Given the description of an element on the screen output the (x, y) to click on. 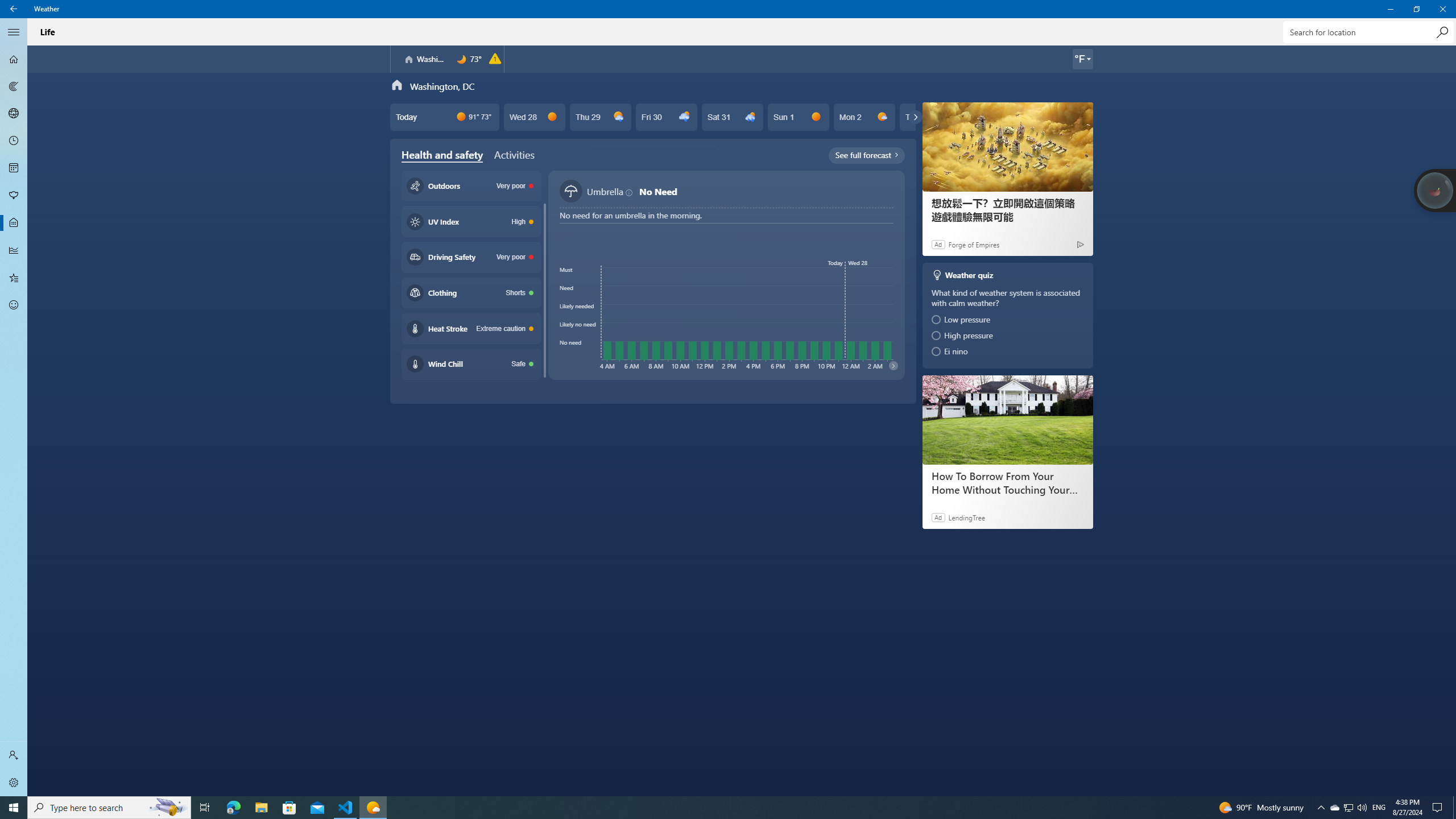
Send Feedback - Not Selected (13, 304)
Forecast - Not Selected (13, 58)
Historical Weather - Not Selected (13, 249)
Send Feedback - Not Selected (13, 304)
Search (1442, 31)
Maps - Not Selected (13, 85)
Monthly Forecast - Not Selected (13, 167)
Favorites - Not Selected (13, 277)
Sign in (13, 755)
